Given the description of an element on the screen output the (x, y) to click on. 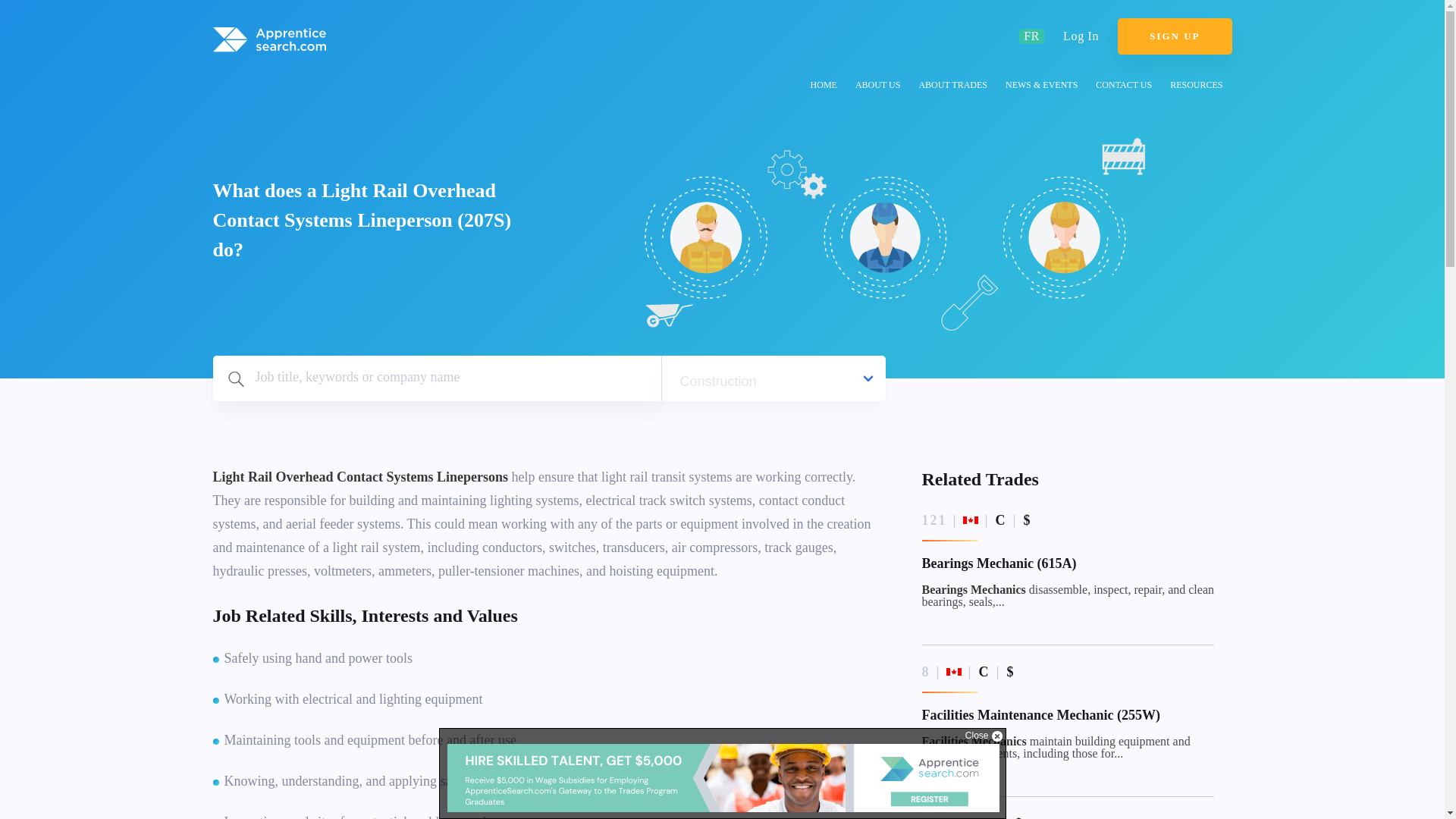
RESOURCES (1195, 87)
ABOUT TRADES (951, 87)
Log In (1080, 36)
SIGN UP (1174, 36)
ABOUT US (876, 87)
CONTACT US (1123, 87)
FR (1031, 36)
HOME (823, 87)
FR (1031, 36)
